Given the description of an element on the screen output the (x, y) to click on. 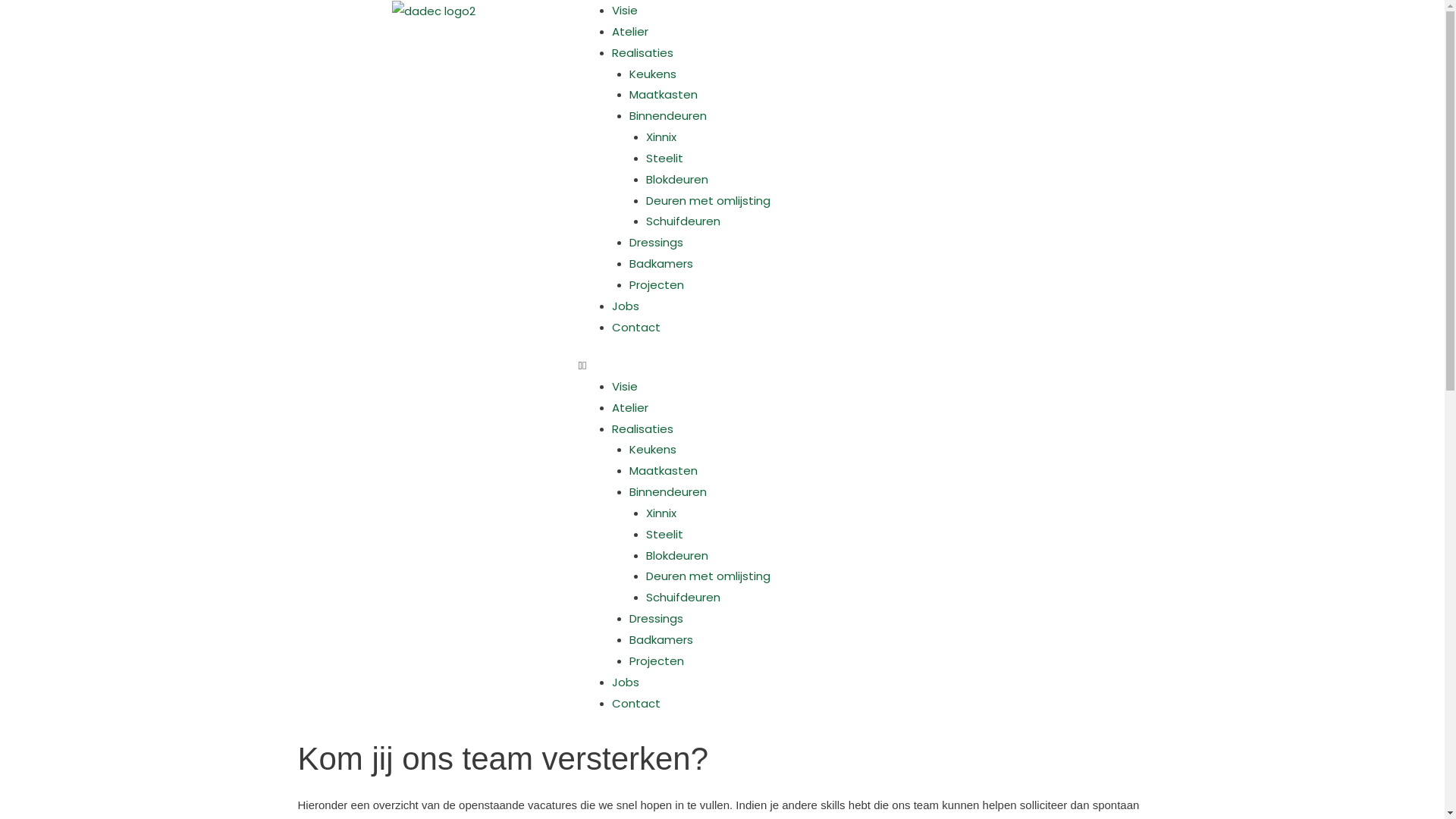
Schuifdeuren Element type: text (683, 597)
Xinnix Element type: text (661, 136)
Realisaties Element type: text (642, 428)
Blokdeuren Element type: text (677, 179)
Dressings Element type: text (656, 242)
Deuren met omlijsting Element type: text (708, 575)
Projecten Element type: text (656, 660)
Steelit Element type: text (664, 534)
Realisaties Element type: text (642, 52)
dadec logo2 Element type: hover (433, 10)
Steelit Element type: text (664, 158)
Xinnix Element type: text (661, 512)
Dressings Element type: text (656, 618)
Contact Element type: text (635, 702)
Blokdeuren Element type: text (677, 555)
Keukens Element type: text (652, 449)
Jobs Element type: text (625, 305)
Badkamers Element type: text (661, 639)
Contact Element type: text (635, 327)
Keukens Element type: text (652, 73)
Binnendeuren Element type: text (667, 491)
Badkamers Element type: text (661, 263)
Visie Element type: text (624, 386)
Deuren met omlijsting Element type: text (708, 200)
Maatkasten Element type: text (663, 94)
Visie Element type: text (624, 10)
Jobs Element type: text (625, 682)
Maatkasten Element type: text (663, 470)
Atelier Element type: text (629, 407)
Binnendeuren Element type: text (667, 115)
Atelier Element type: text (629, 31)
Schuifdeuren Element type: text (683, 221)
Projecten Element type: text (656, 284)
